Given the description of an element on the screen output the (x, y) to click on. 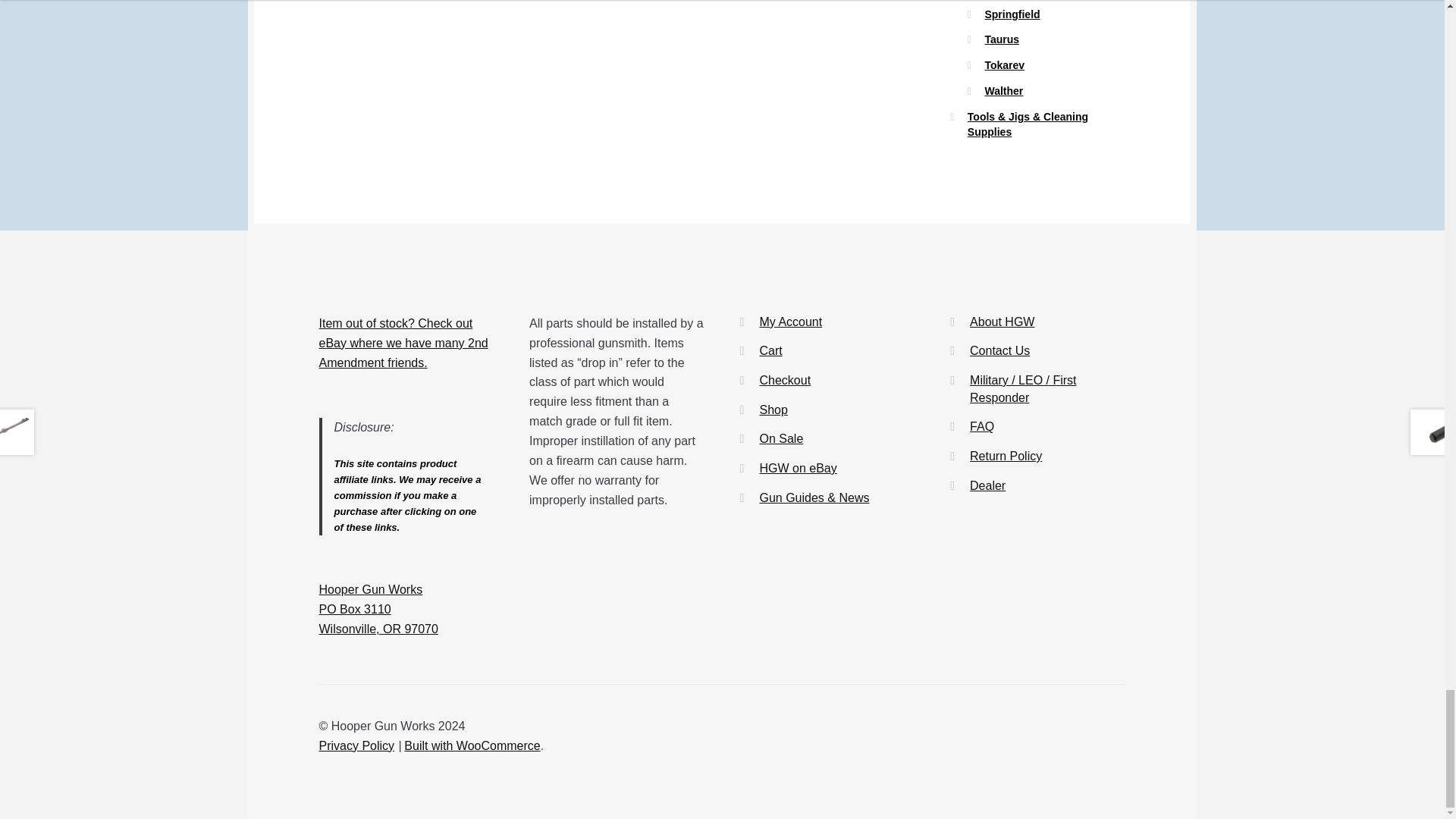
WooCommerce - The Best eCommerce Platform for WordPress (472, 745)
